Given the description of an element on the screen output the (x, y) to click on. 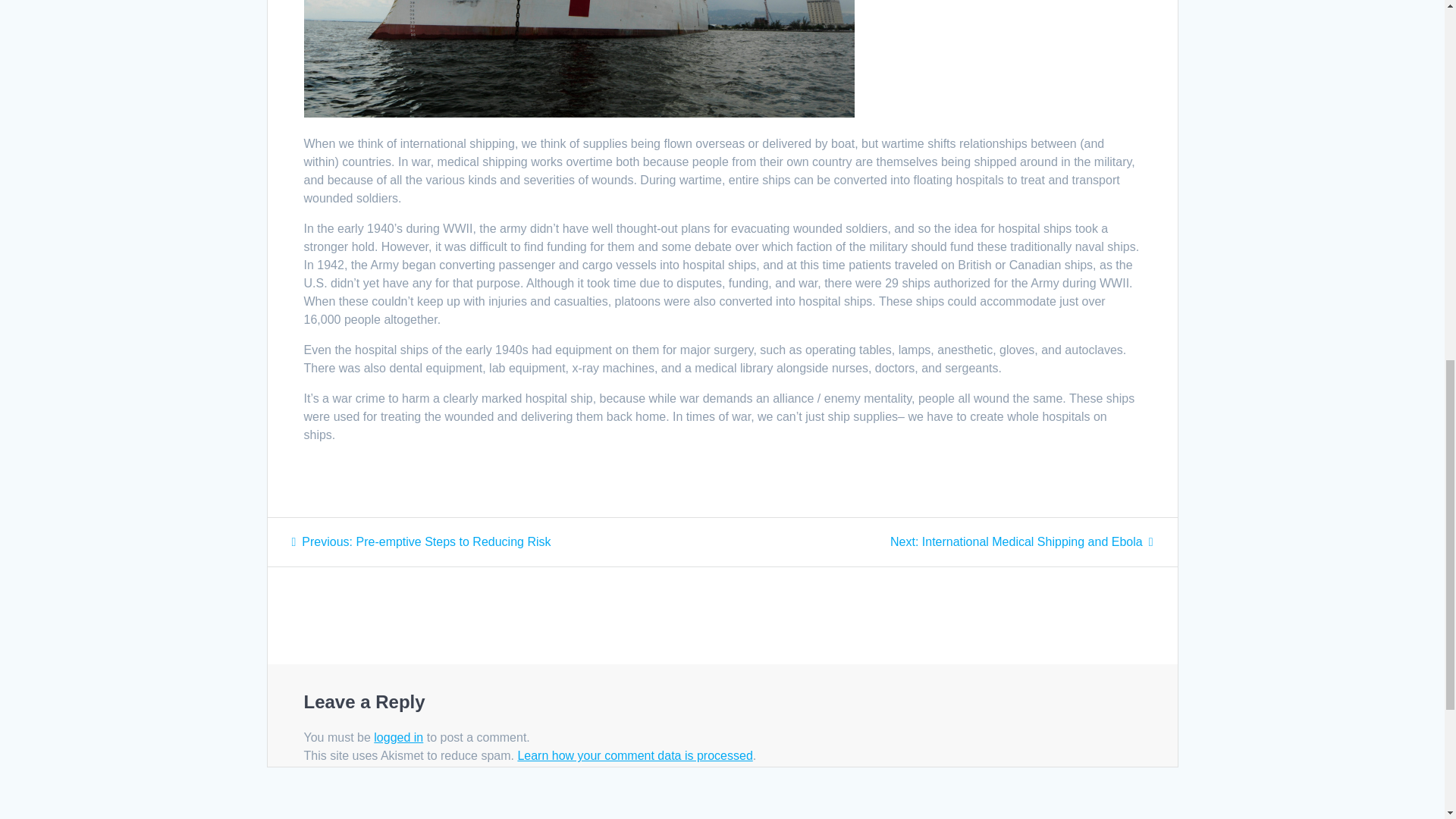
Learn how your comment data is processed (420, 541)
logged in (634, 755)
